Given the description of an element on the screen output the (x, y) to click on. 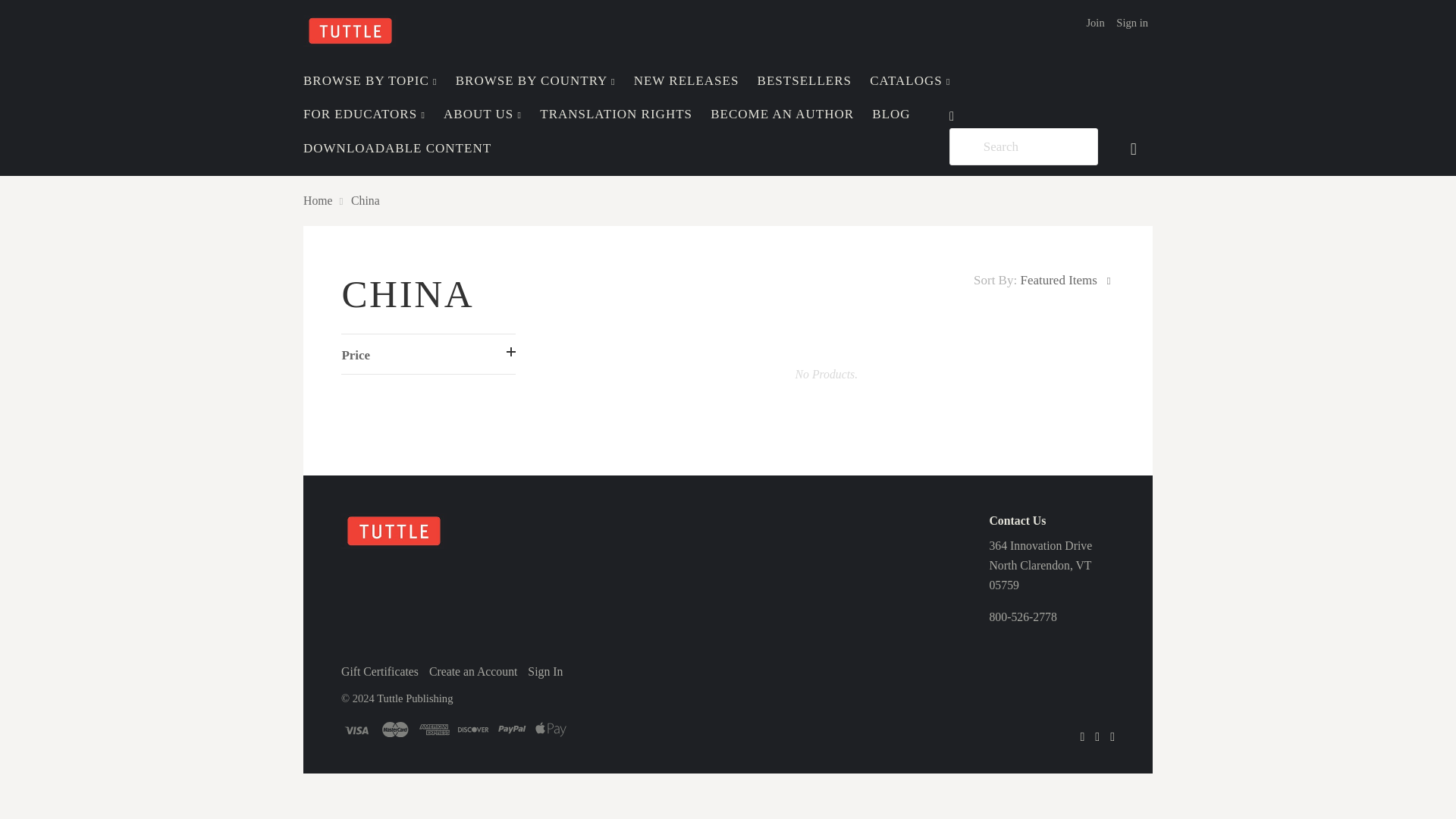
Sign in (1132, 22)
View cart (1135, 147)
Discover (473, 729)
Twitter (1112, 736)
View cart (1135, 147)
Visa (356, 729)
Instagram (1096, 736)
Apple Pay (550, 729)
Facebook (1082, 736)
American Express (434, 729)
BROWSE BY COUNTRY (535, 80)
Join (1094, 22)
Paypal (511, 729)
Mastercard (395, 729)
BROWSE BY TOPIC (370, 80)
